Given the description of an element on the screen output the (x, y) to click on. 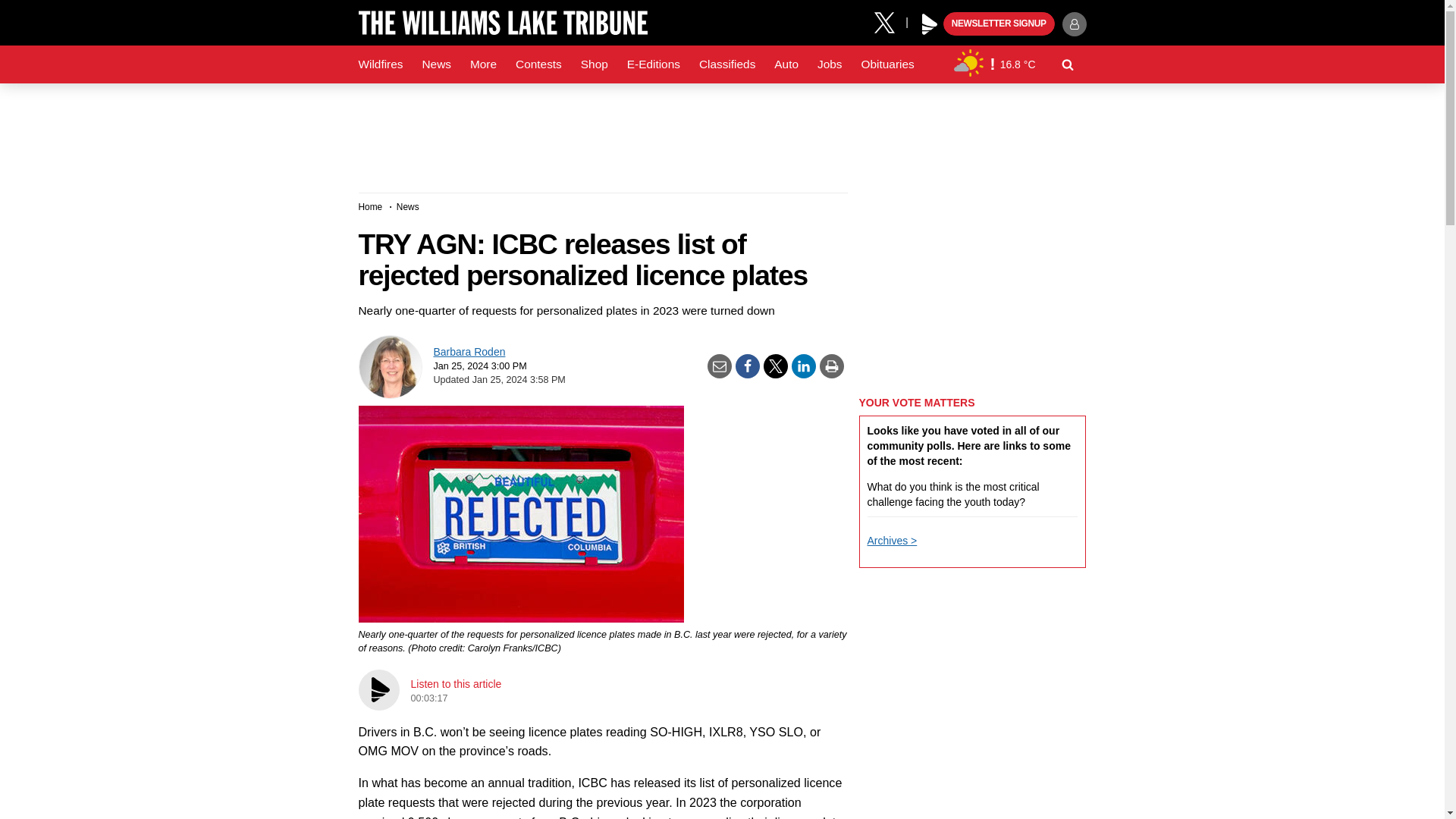
X (889, 21)
NEWSLETTER SIGNUP (998, 24)
News (435, 64)
Wildfires (380, 64)
Play (929, 24)
Black Press Media (929, 24)
